Given the description of an element on the screen output the (x, y) to click on. 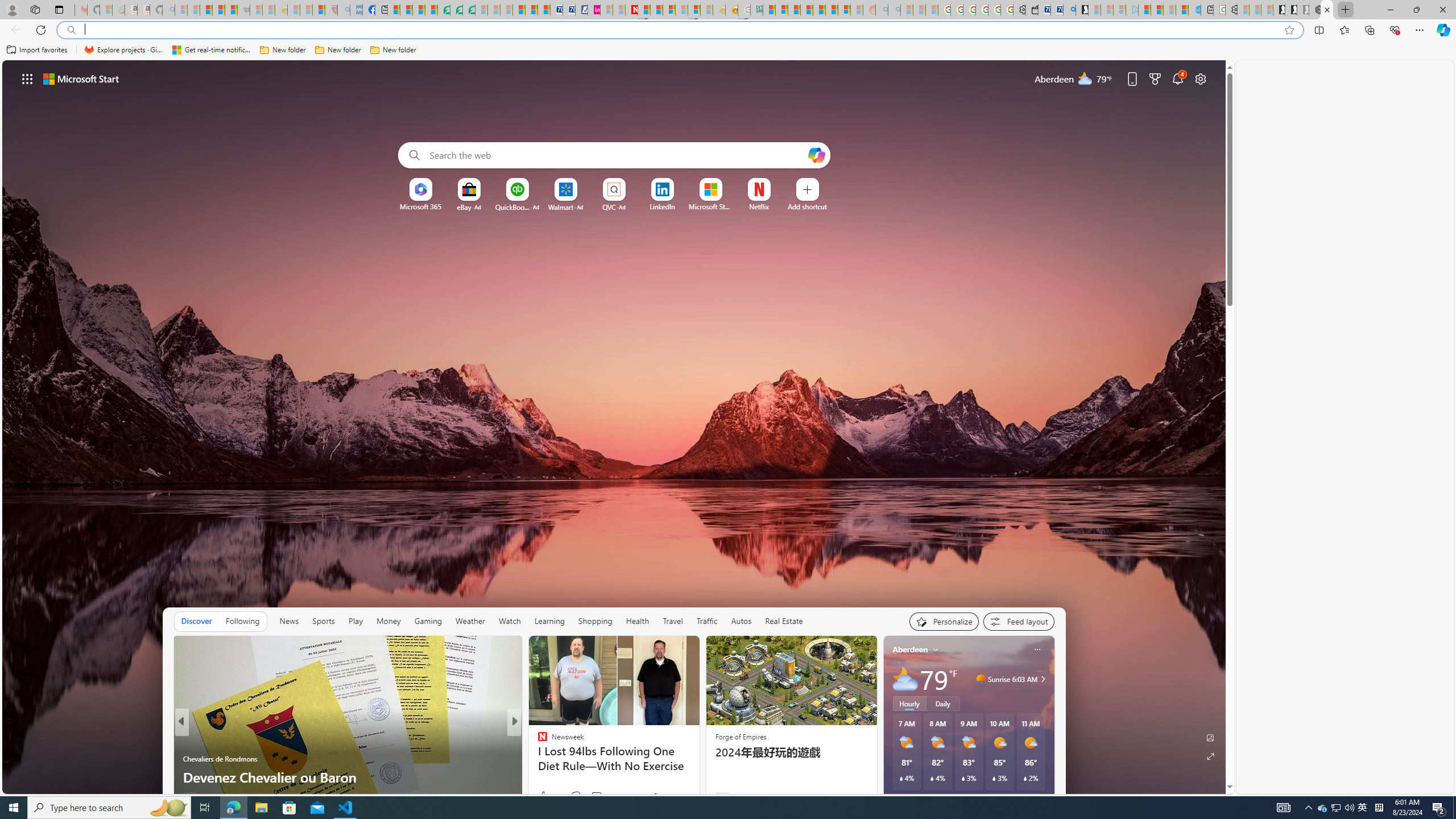
Sports (323, 621)
Chevaliers de Rondmons (219, 758)
Housely (537, 758)
Following (242, 621)
Class: icon-img (1037, 649)
Wallet (1031, 9)
Feed settings (1018, 621)
Sunrise 6:03 AM (1040, 678)
